Given the description of an element on the screen output the (x, y) to click on. 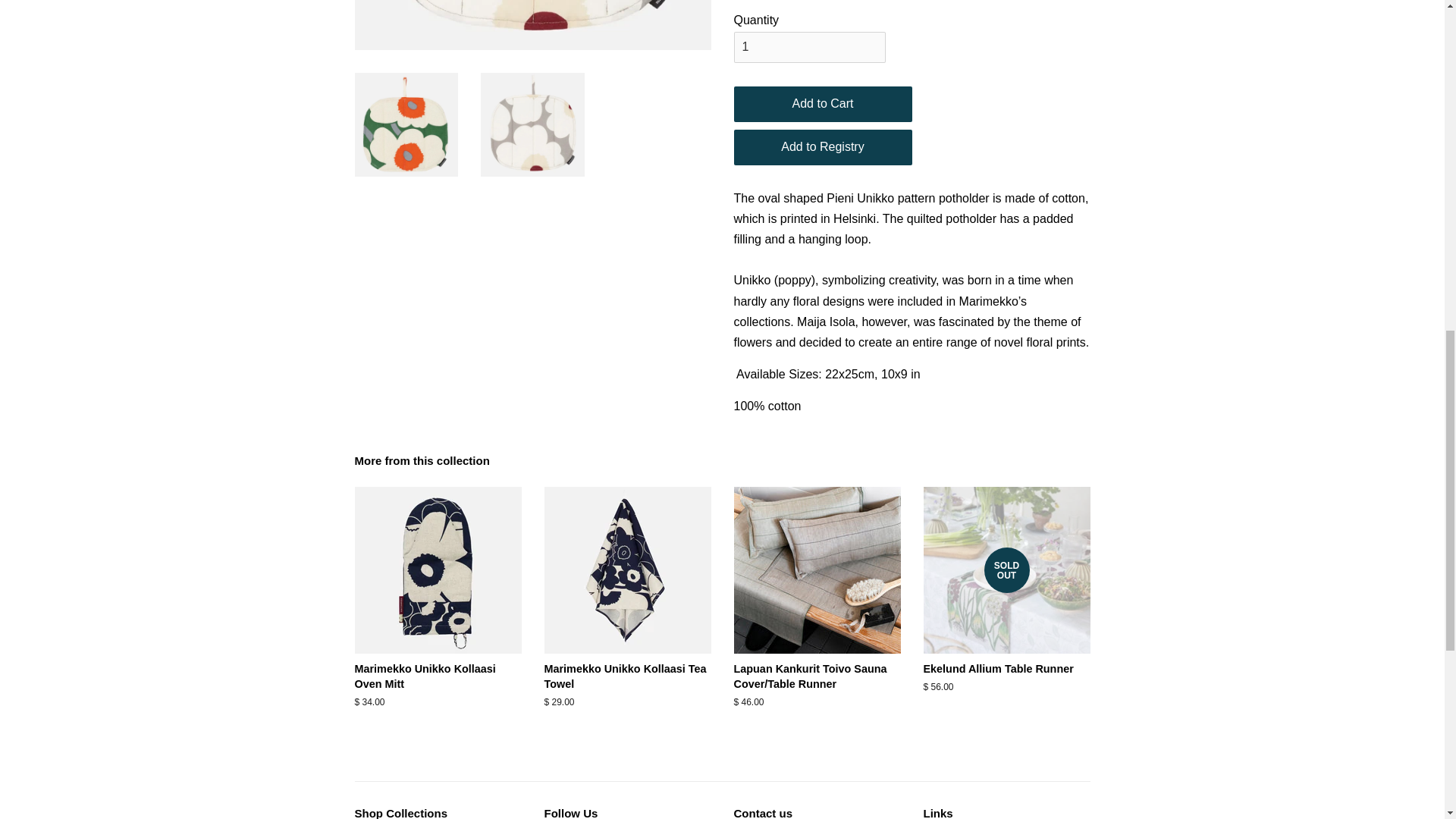
Add to Registry (822, 147)
1 (809, 47)
